Given the description of an element on the screen output the (x, y) to click on. 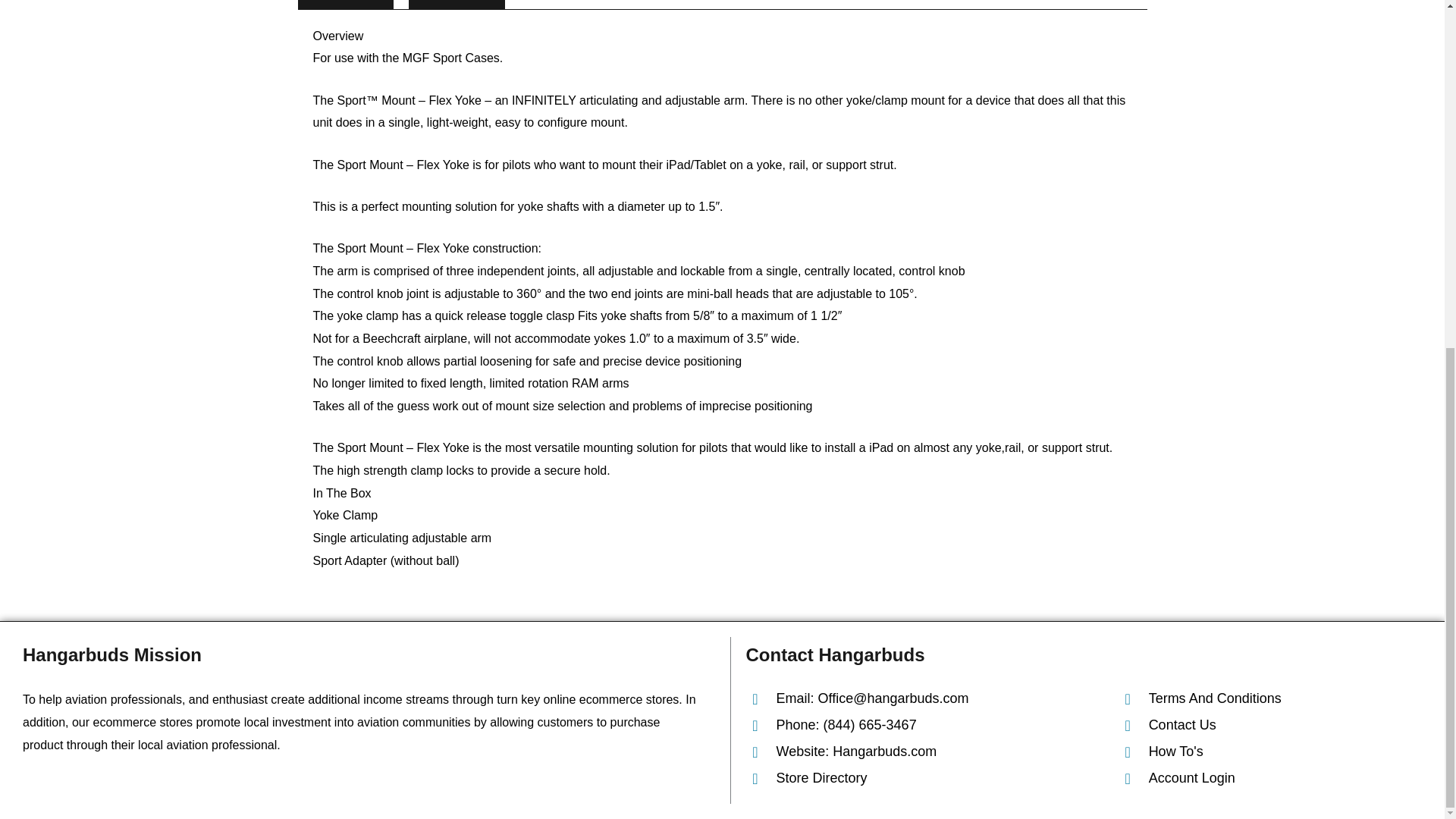
Website: Hangarbuds.com (924, 752)
Account Login (1269, 778)
Terms And Conditions (1269, 698)
Description (345, 4)
Store Directory (924, 778)
Contact Us (1269, 724)
How To's (1269, 752)
